Given the description of an element on the screen output the (x, y) to click on. 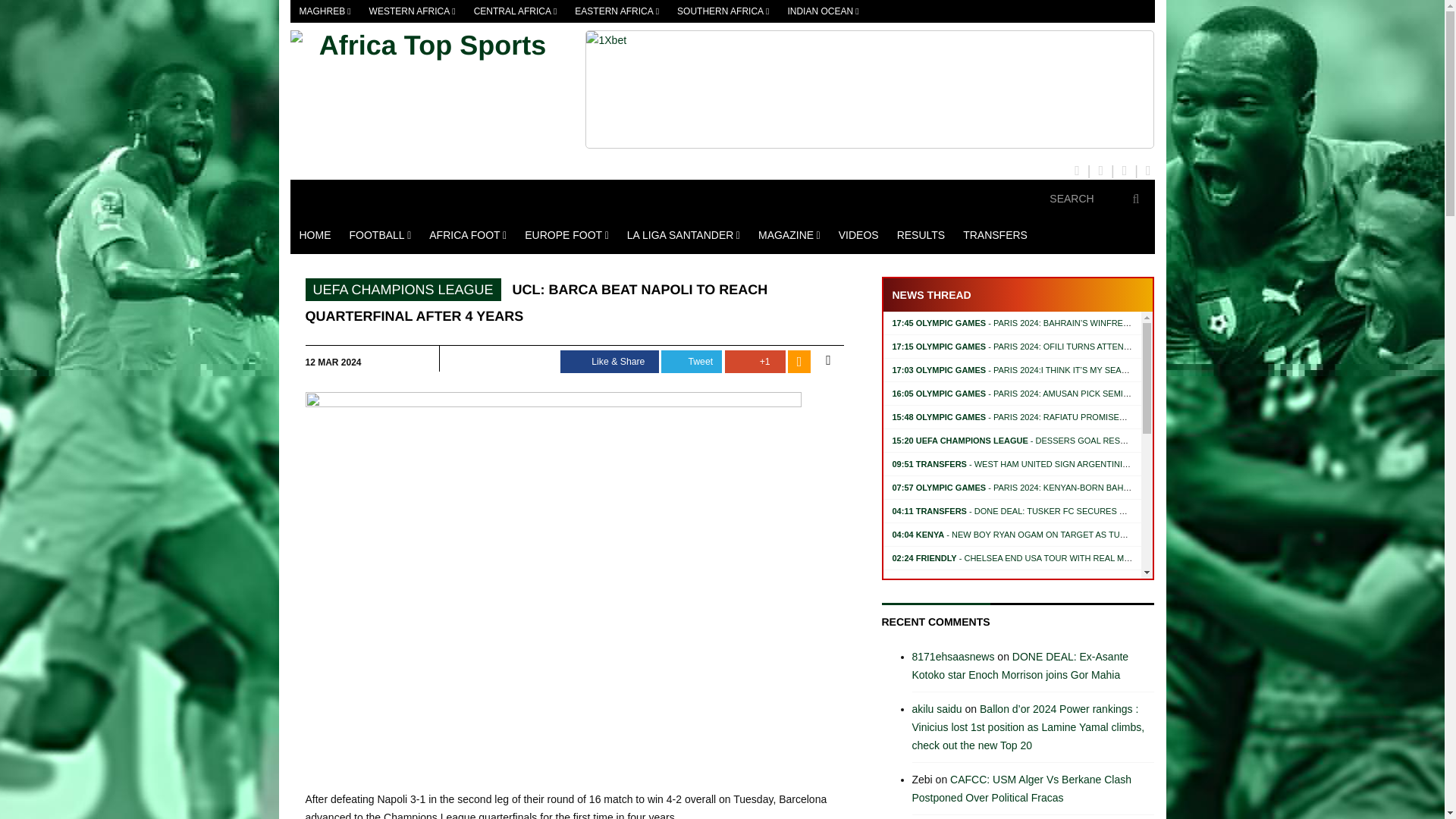
Share on Google Plus (755, 361)
Mail this (827, 360)
CENTRAL AFRICA (515, 11)
Share on Twitter (691, 361)
MAGHREB (324, 11)
Share on Facebook (609, 361)
ATS RSS feed (798, 362)
WESTERN AFRICA (411, 11)
EASTERN AFRICA (617, 11)
Twitter page (1100, 169)
Facebook page (1076, 169)
1Xbet (869, 88)
RSS feed (1147, 169)
